Given the description of an element on the screen output the (x, y) to click on. 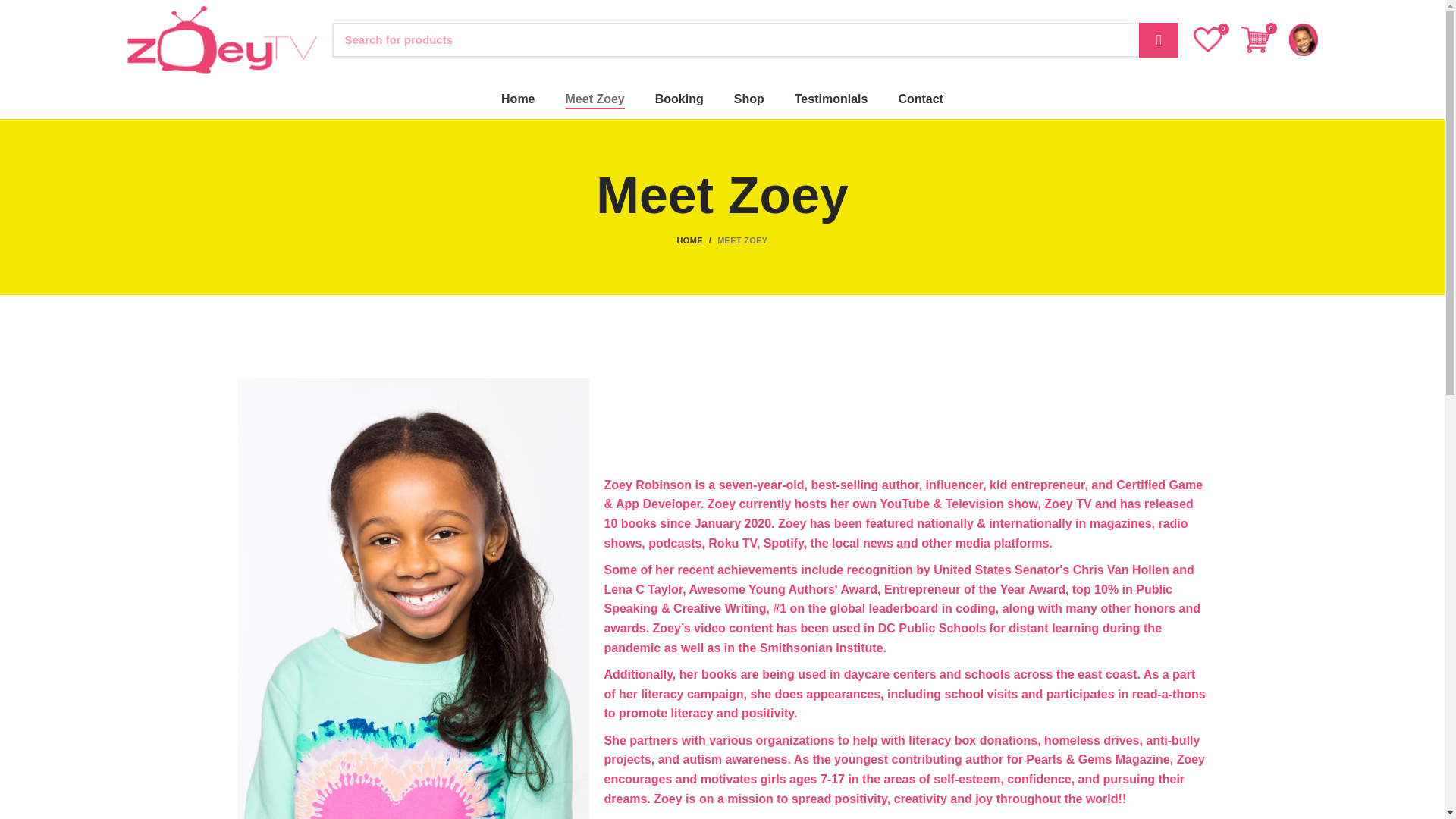
Shopping cart (1254, 39)
Home (518, 99)
Contact (920, 99)
Search for products (754, 39)
Shop (748, 99)
Testimonials (830, 99)
My account (1302, 39)
HOME (697, 240)
Meet Zoey (595, 99)
0 (1254, 39)
SEARCH (1157, 39)
Booking (679, 99)
My Wishlist (1208, 39)
Log in (1192, 281)
0 (1208, 39)
